Given the description of an element on the screen output the (x, y) to click on. 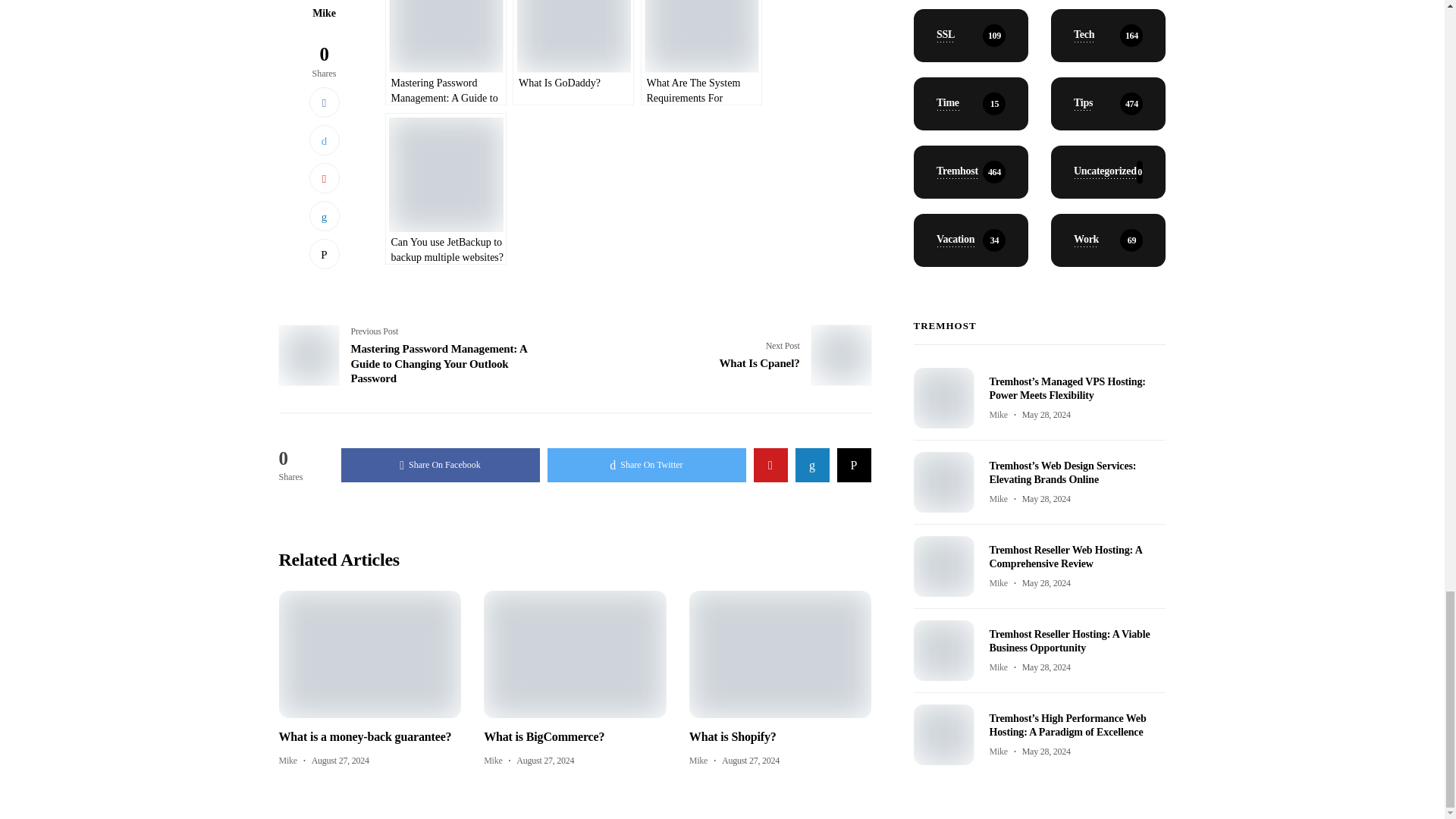
What Are The System Requirements For Running Cpanel (700, 52)
Posts by Mike (697, 760)
Posts by Mike (492, 760)
What Is GoDaddy? (572, 52)
Posts by Mike (288, 760)
